Given the description of an element on the screen output the (x, y) to click on. 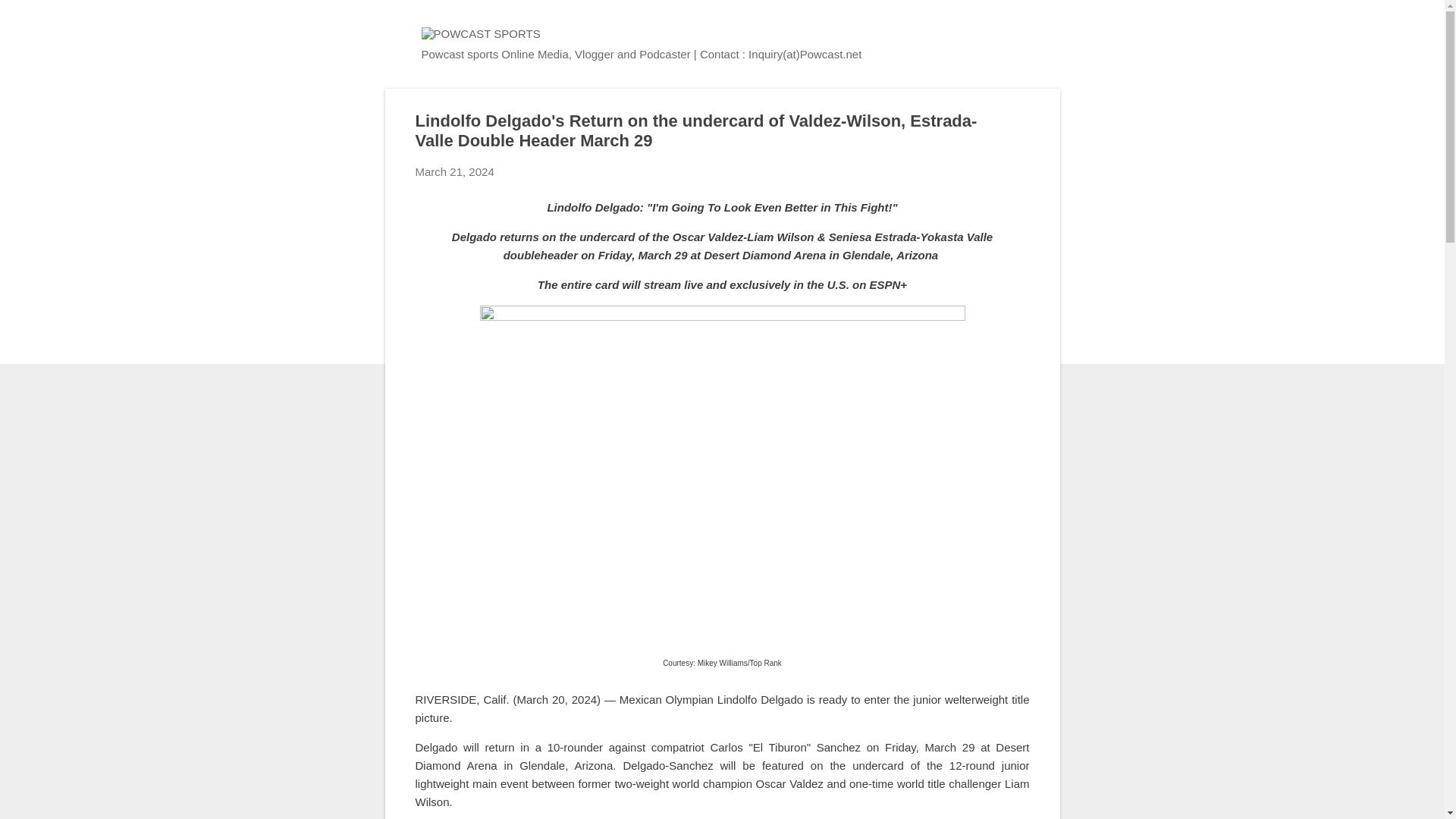
permanent link (454, 171)
Search (29, 18)
March 21, 2024 (454, 171)
